Given the description of an element on the screen output the (x, y) to click on. 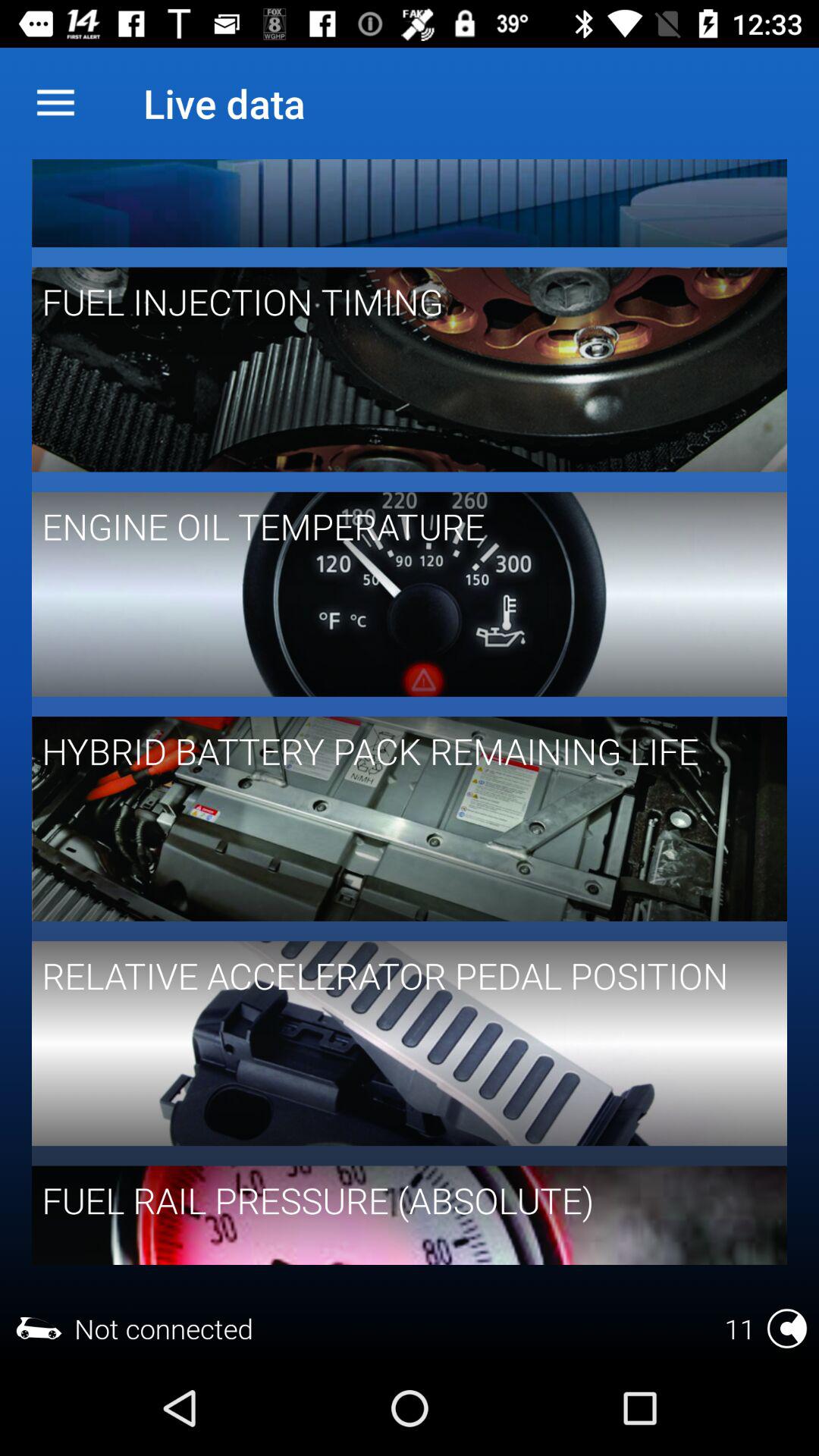
tap the item to the left of live data (55, 103)
